Given the description of an element on the screen output the (x, y) to click on. 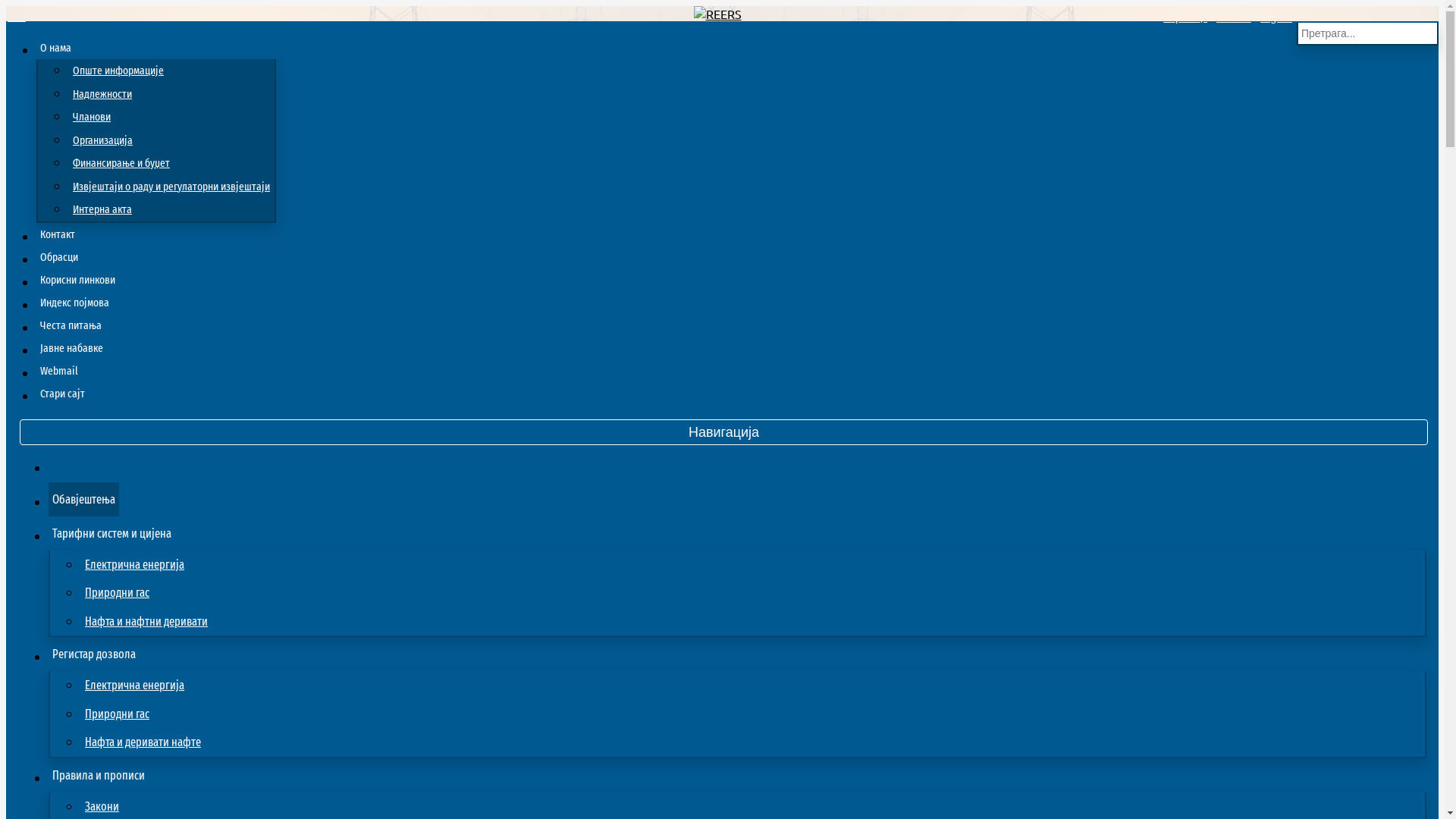
English Element type: text (1275, 17)
Webmail Element type: text (58, 370)
Latinica Element type: text (1233, 17)
